Given the description of an element on the screen output the (x, y) to click on. 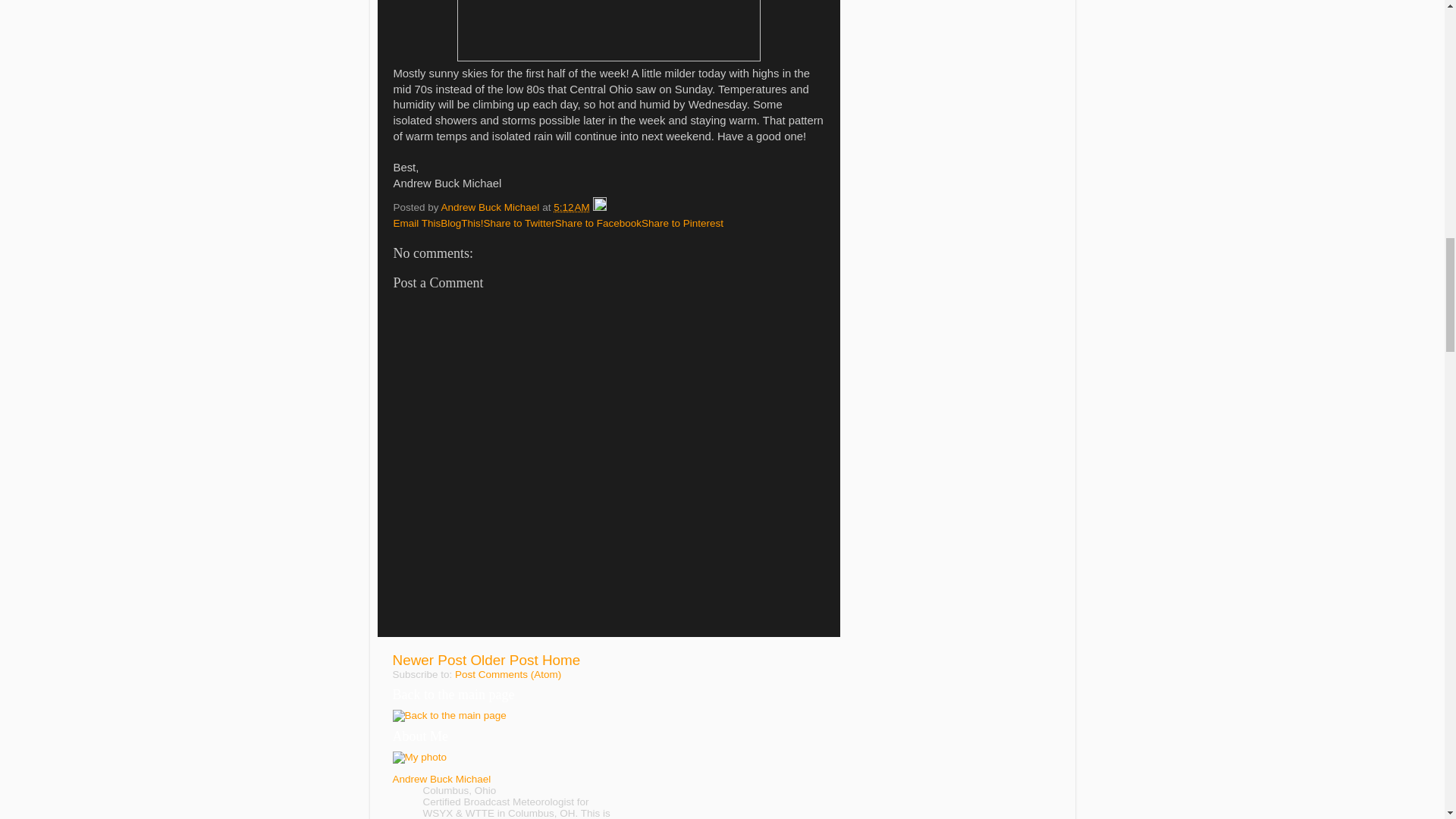
Share to Pinterest (682, 223)
permanent link (571, 206)
Share to Twitter (518, 223)
Andrew Buck Michael (442, 778)
Home (560, 659)
Share to Facebook (598, 223)
Share to Pinterest (682, 223)
Share to Facebook (598, 223)
Edit Post (599, 206)
Andrew Buck Michael (492, 206)
Older Post (503, 659)
author profile (492, 206)
BlogThis! (462, 223)
Email This (417, 223)
